Given the description of an element on the screen output the (x, y) to click on. 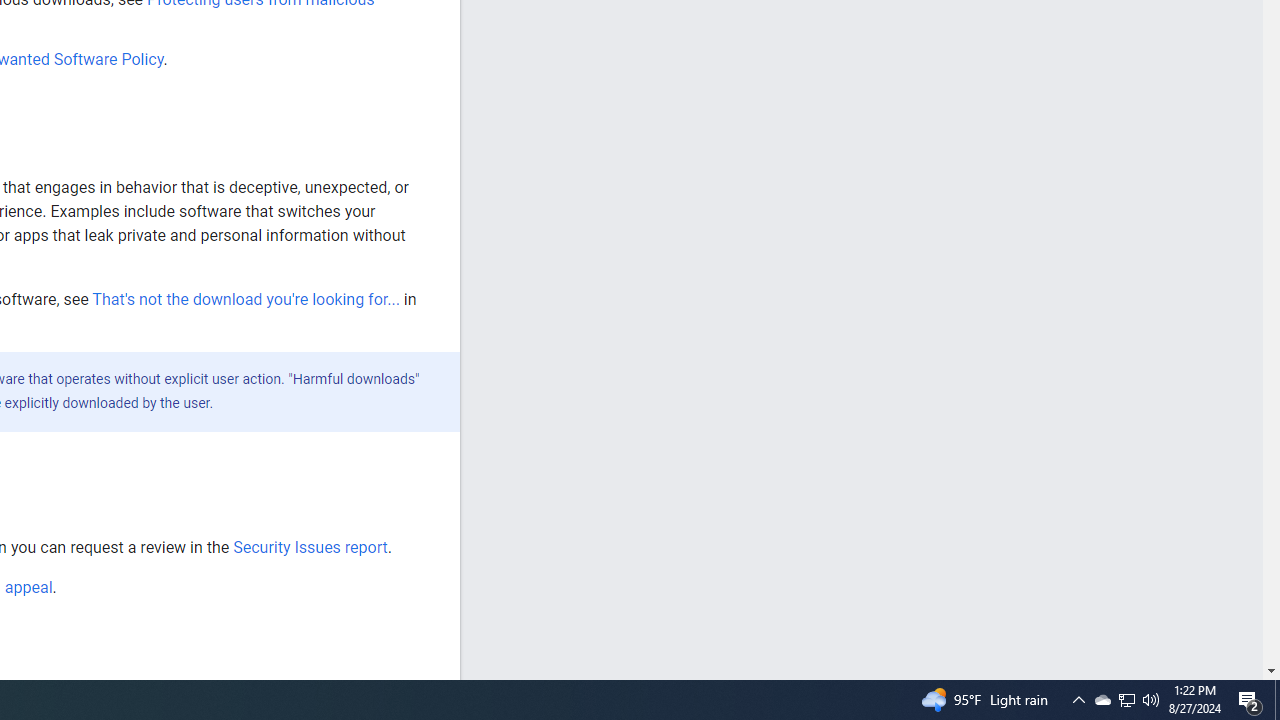
Security Issues report (309, 547)
That's not the download you're looking for... (245, 299)
